Given the description of an element on the screen output the (x, y) to click on. 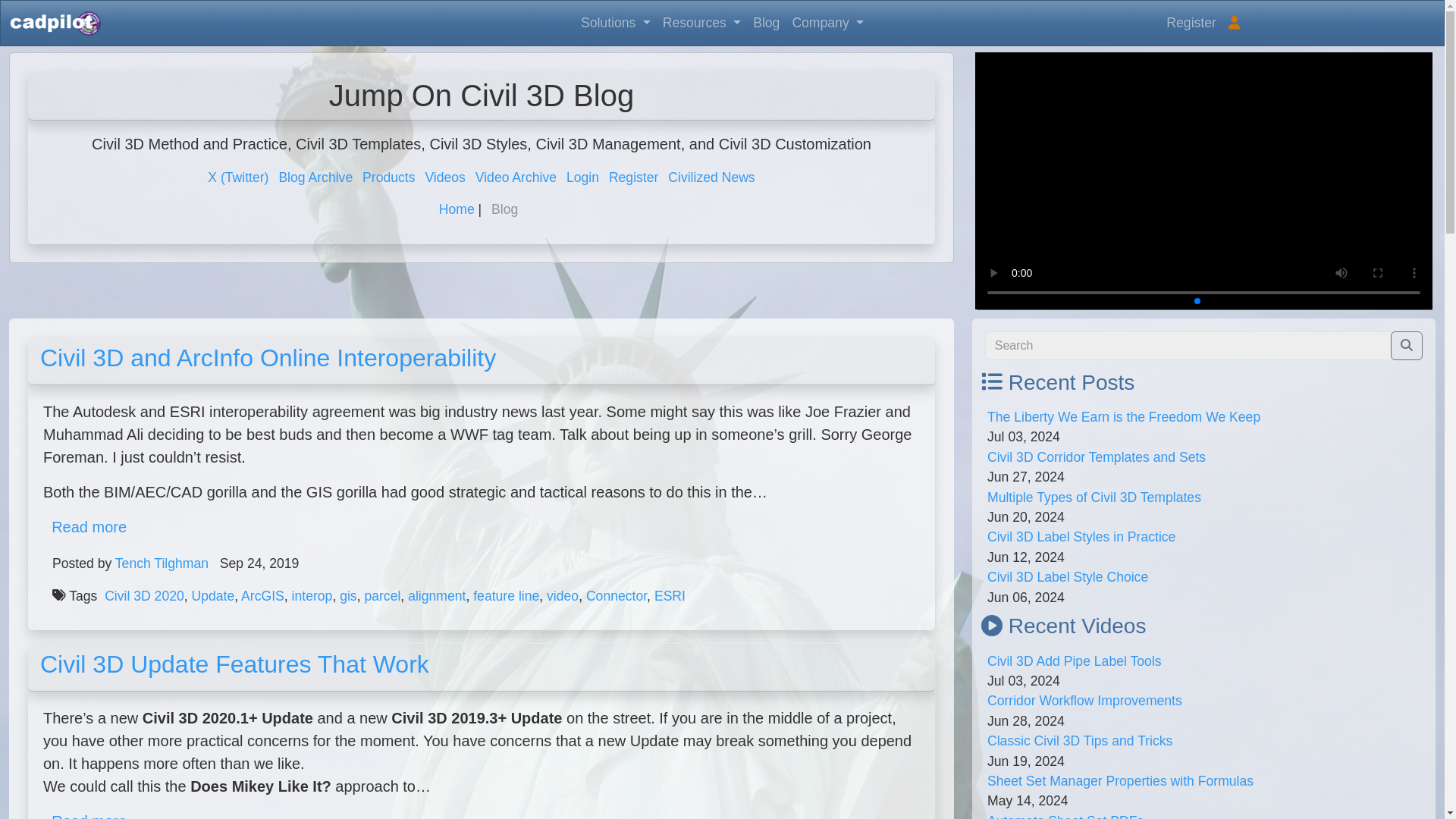
Company (827, 22)
Blog Archive (315, 177)
Products (388, 177)
Video Archive (516, 177)
Blog (766, 22)
Login (582, 177)
Register (1191, 22)
Resources (701, 22)
Company (827, 22)
Videos (444, 177)
Cadpilot logo (55, 23)
Solutions (615, 22)
Register (633, 177)
Get More (1204, 193)
Resources (701, 22)
